Given the description of an element on the screen output the (x, y) to click on. 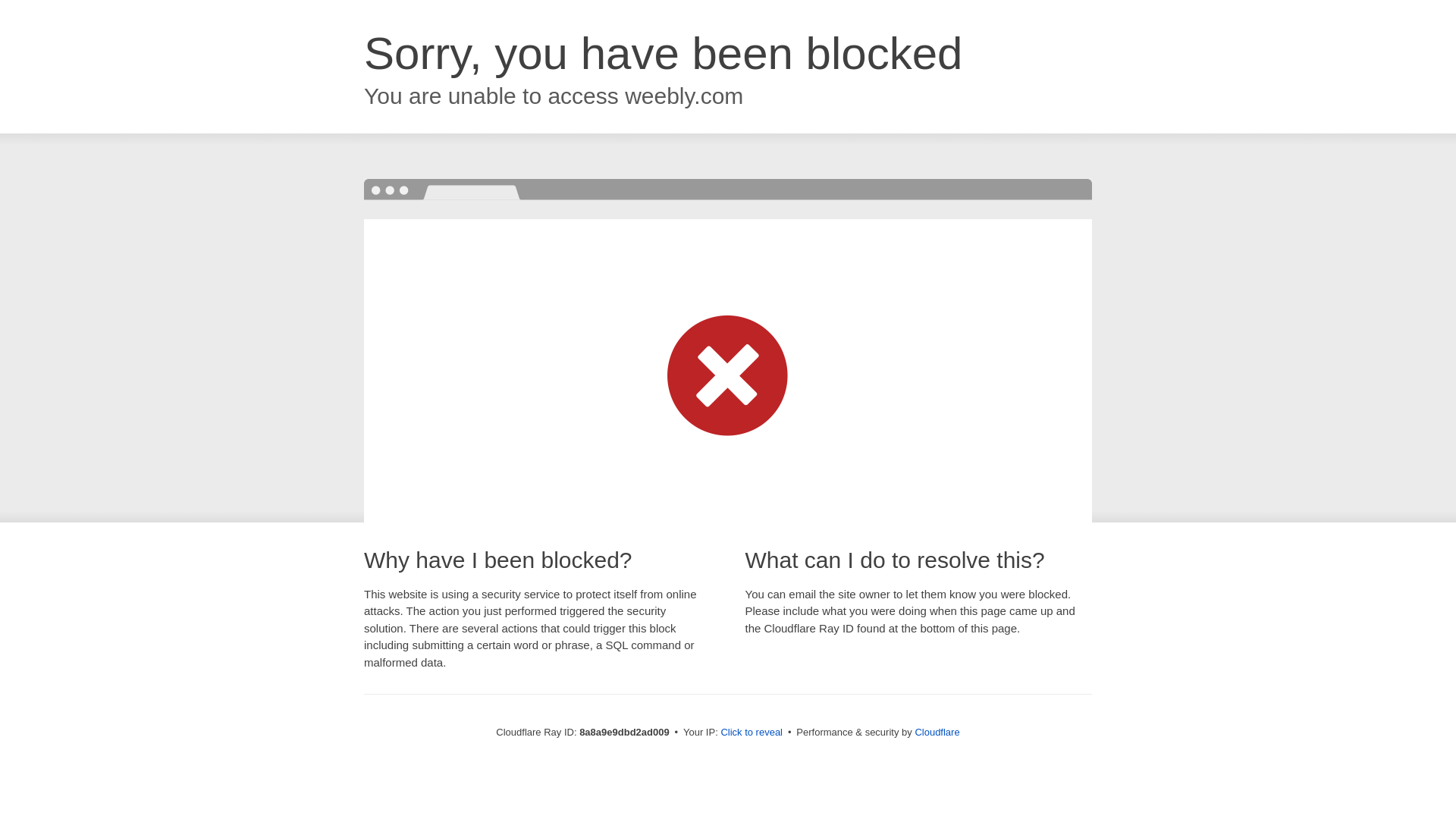
Cloudflare (936, 731)
Click to reveal (751, 732)
